Given the description of an element on the screen output the (x, y) to click on. 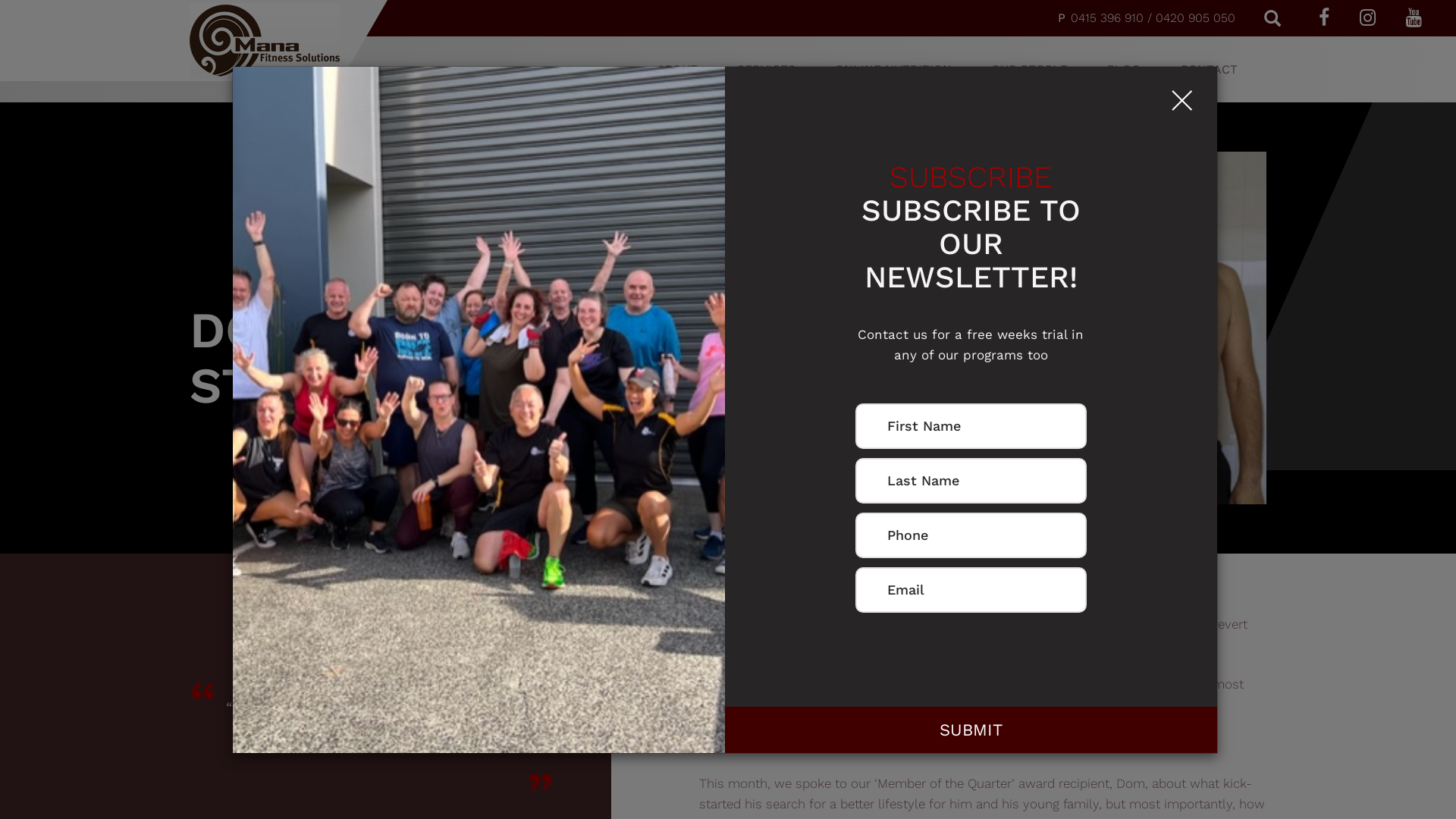
BLOG Element type: text (1123, 69)
SERVICES Element type: text (766, 69)
Go Element type: text (17, 20)
Submit Element type: text (970, 729)
ONLINE NUTRITION Element type: text (892, 69)
ABOUT Element type: text (676, 69)
OUR PEOPLE Element type: text (1029, 69)
CONTACT Element type: text (1208, 69)
